Given the description of an element on the screen output the (x, y) to click on. 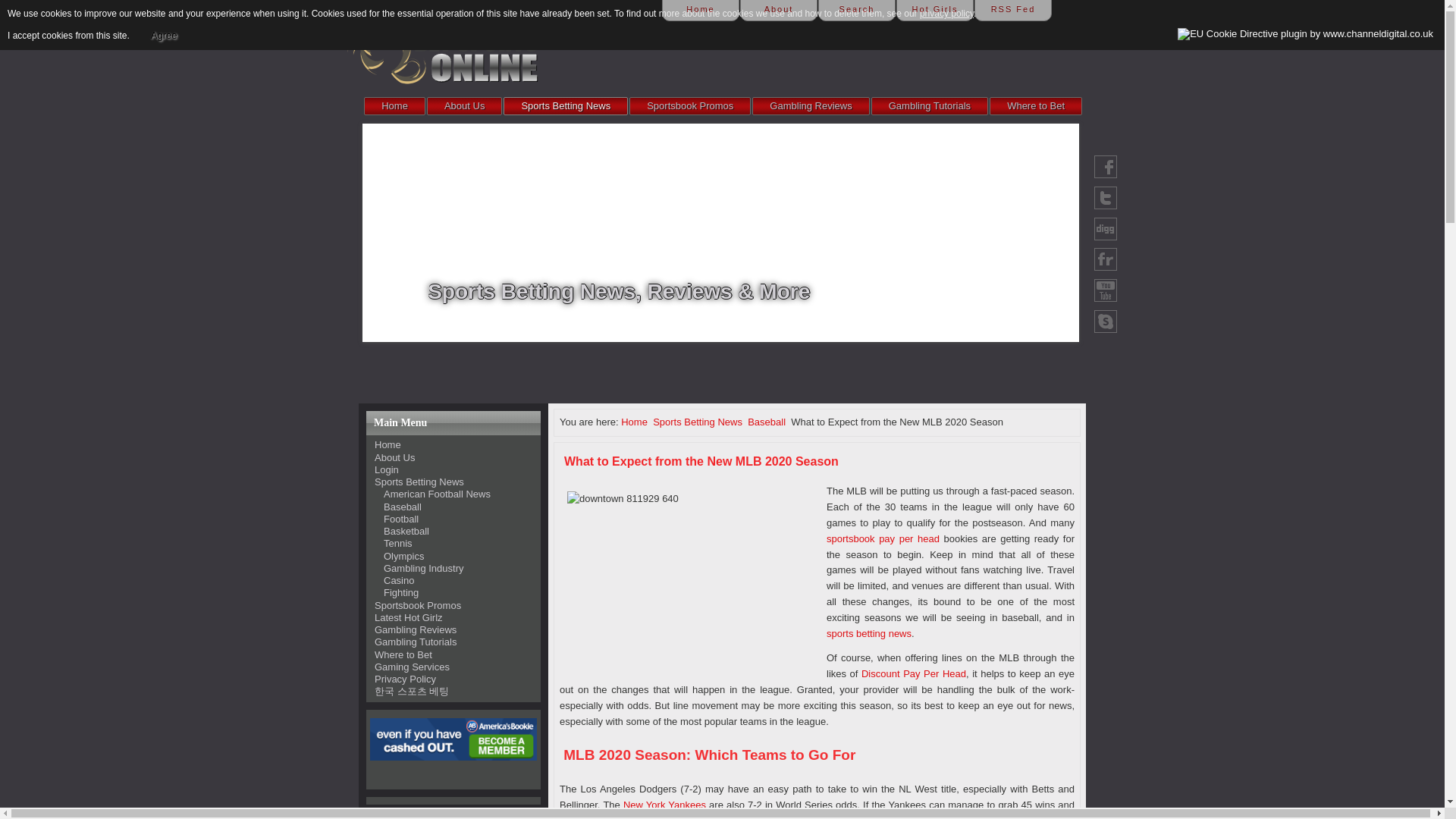
Gambling Reviews (810, 106)
About Us (464, 106)
Bet on Sports at America's Bookie (453, 739)
Hot Girls (935, 10)
View our privacy policy page (947, 13)
RSS Fed (1012, 10)
EU Cookie Directive plugin by www.channeldigital.co.uk (1304, 33)
Home (700, 10)
Home (394, 106)
About (777, 10)
